Given the description of an element on the screen output the (x, y) to click on. 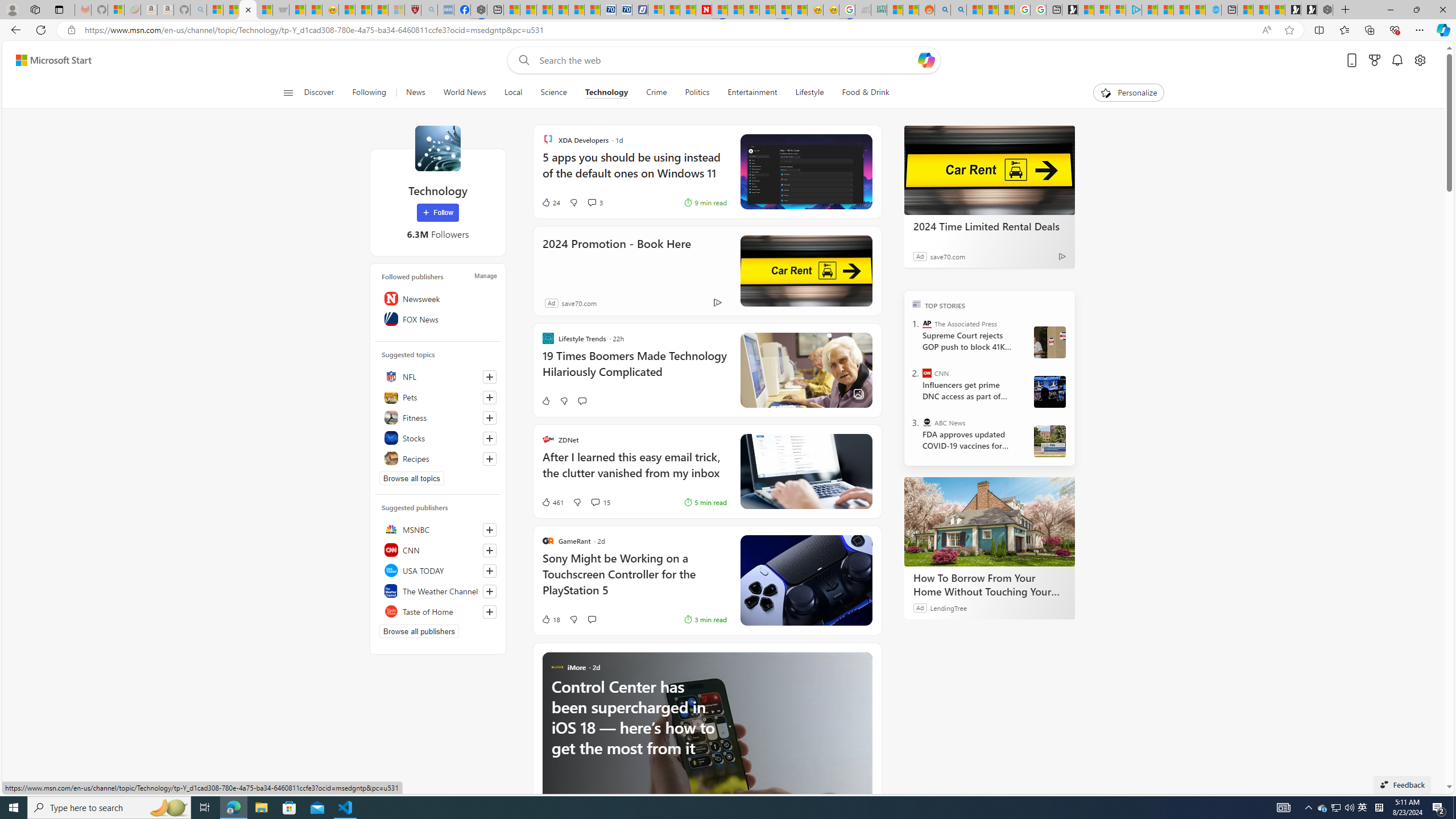
Follow (437, 212)
461 Like (551, 502)
View comments 15 Comment (599, 502)
Newsweek (437, 298)
View comments 3 Comment (591, 202)
The Associated Press (927, 323)
